Given the description of an element on the screen output the (x, y) to click on. 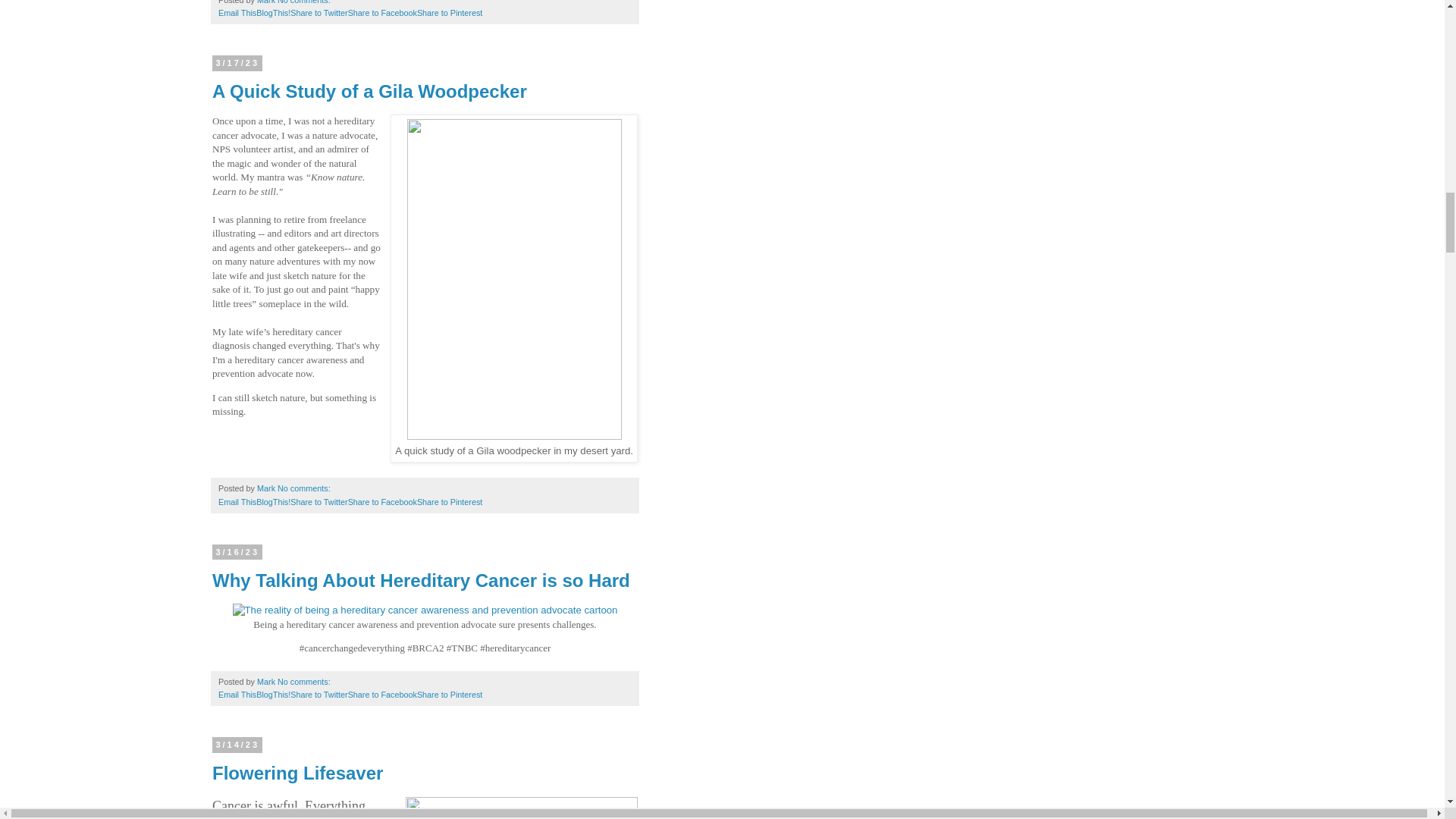
Mark (267, 2)
